Given the description of an element on the screen output the (x, y) to click on. 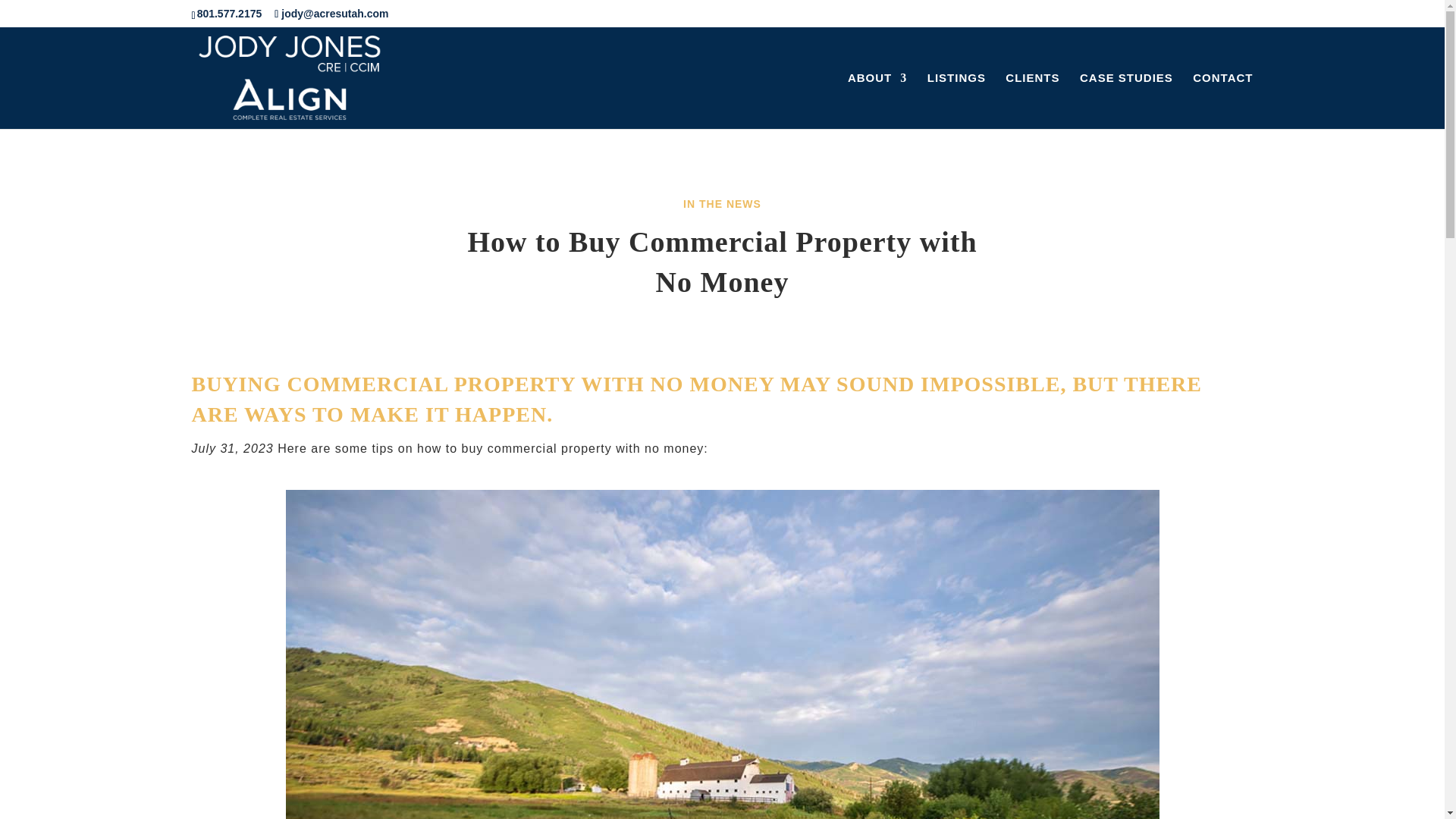
LISTINGS (956, 100)
CLIENTS (1032, 100)
CASE STUDIES (1126, 100)
CONTACT (1222, 100)
ABOUT (877, 100)
